Given the description of an element on the screen output the (x, y) to click on. 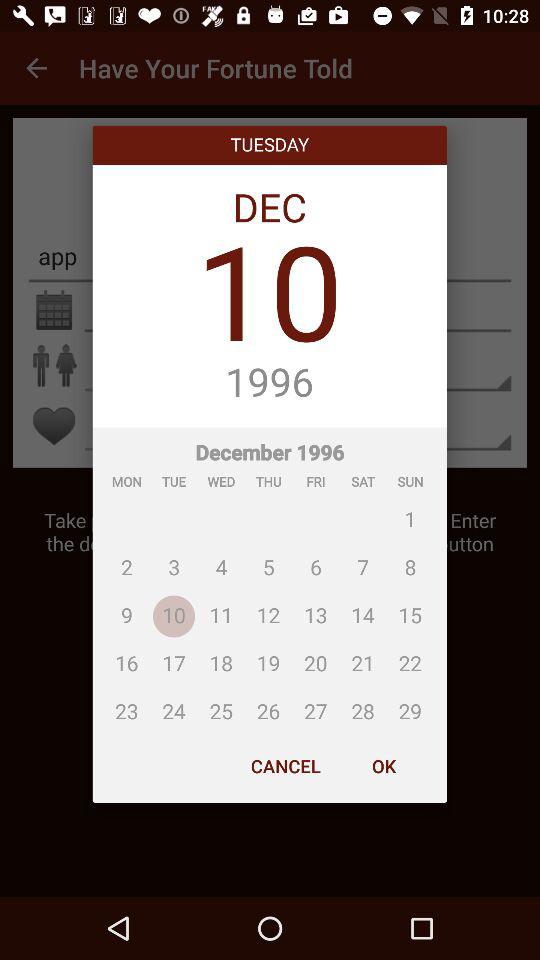
press the icon above the cancel (269, 578)
